Given the description of an element on the screen output the (x, y) to click on. 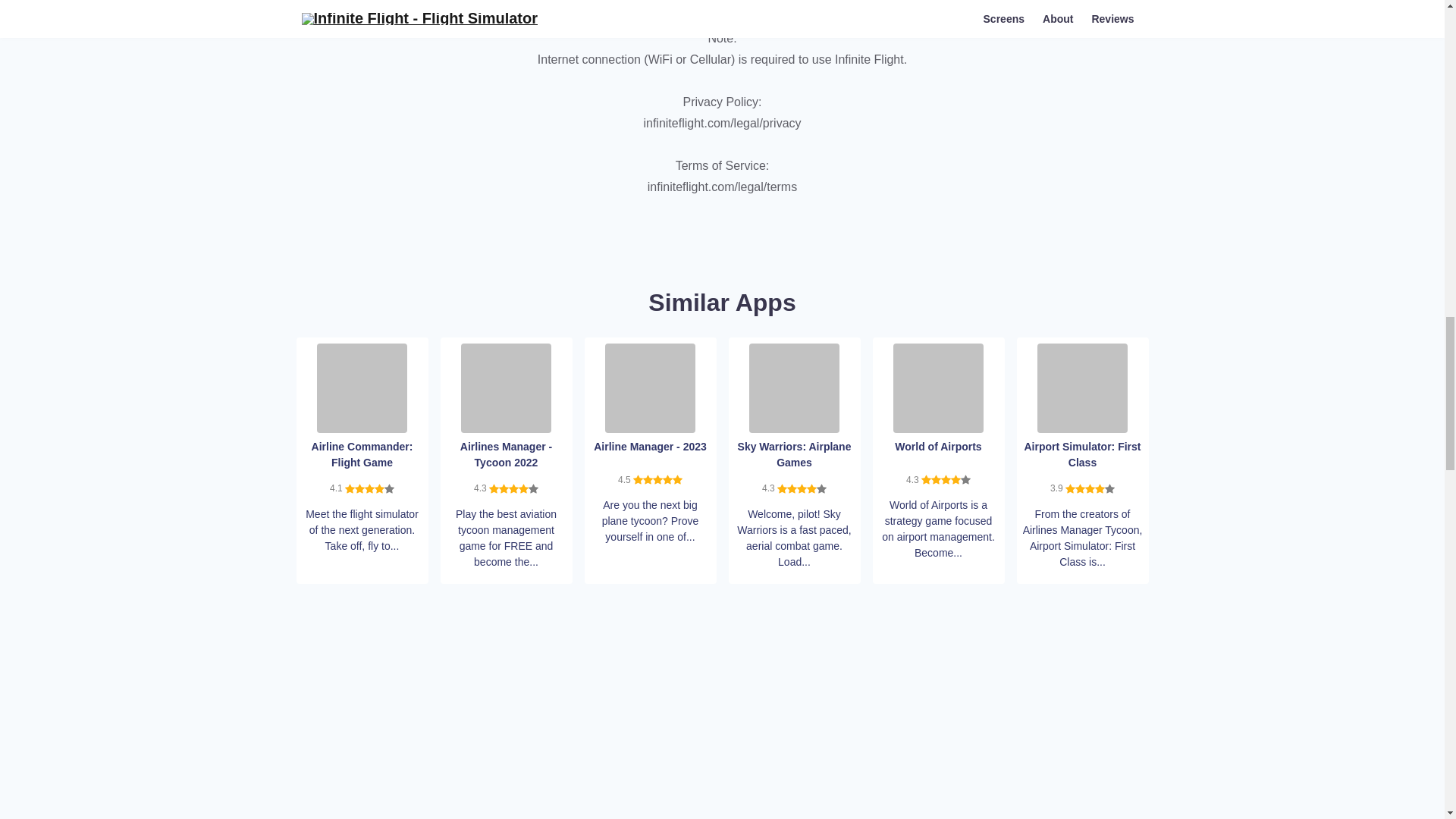
Airport Simulator: First Class (1081, 387)
Airline Manager - 2023 (650, 387)
Airlines Manager - Tycoon 2022 (506, 387)
Sky Warriors: Airplane Games (794, 387)
Airline Commander: Flight Game (362, 387)
World of Airports (938, 387)
